Given the description of an element on the screen output the (x, y) to click on. 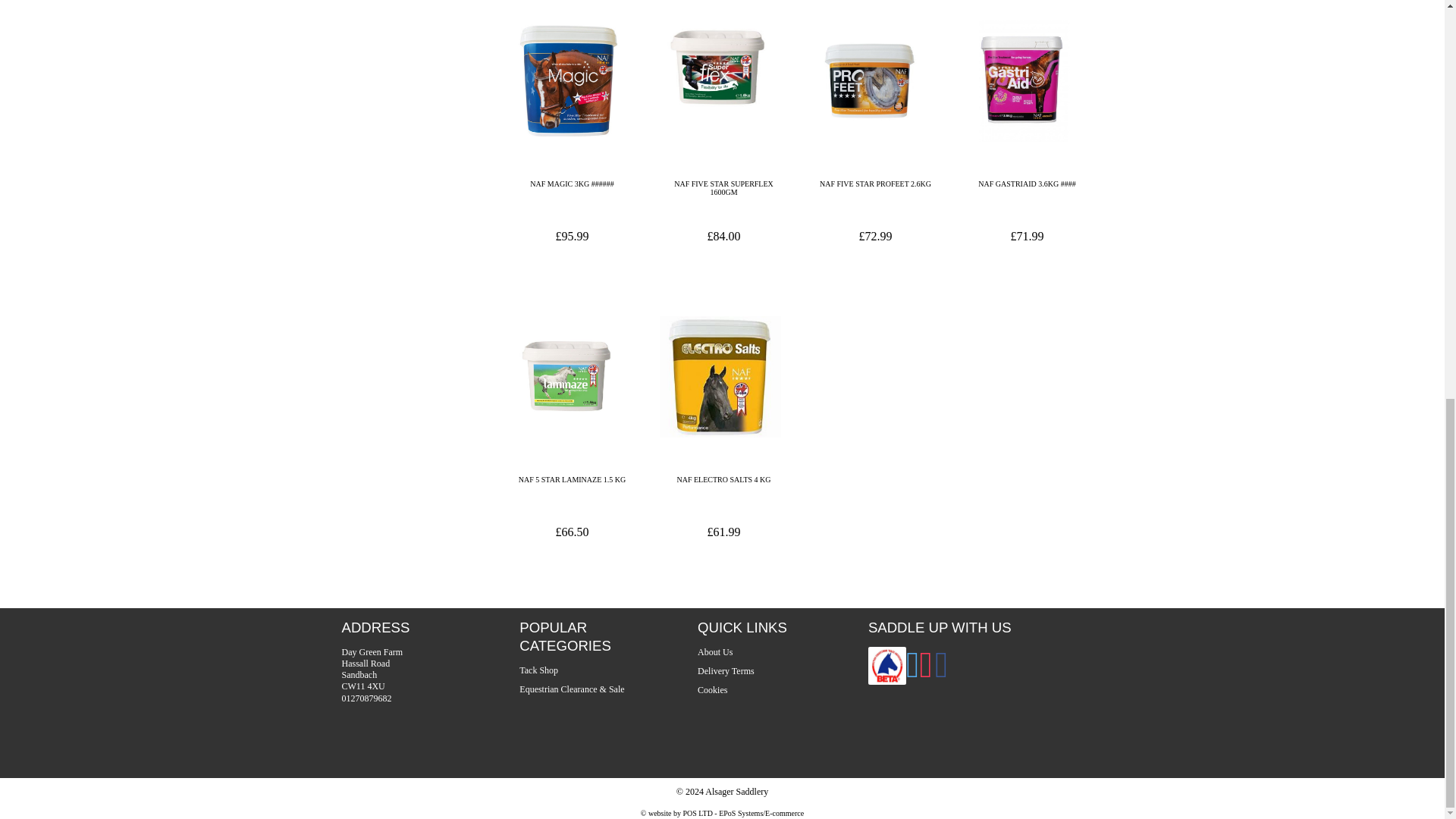
019822 (568, 80)
037427 (568, 376)
Alsager Facebook (941, 674)
013685 (1023, 80)
Alsager Instagram (925, 674)
028720 (871, 80)
004168 (719, 376)
Alsager Twitter (912, 674)
015272 (719, 66)
